Given the description of an element on the screen output the (x, y) to click on. 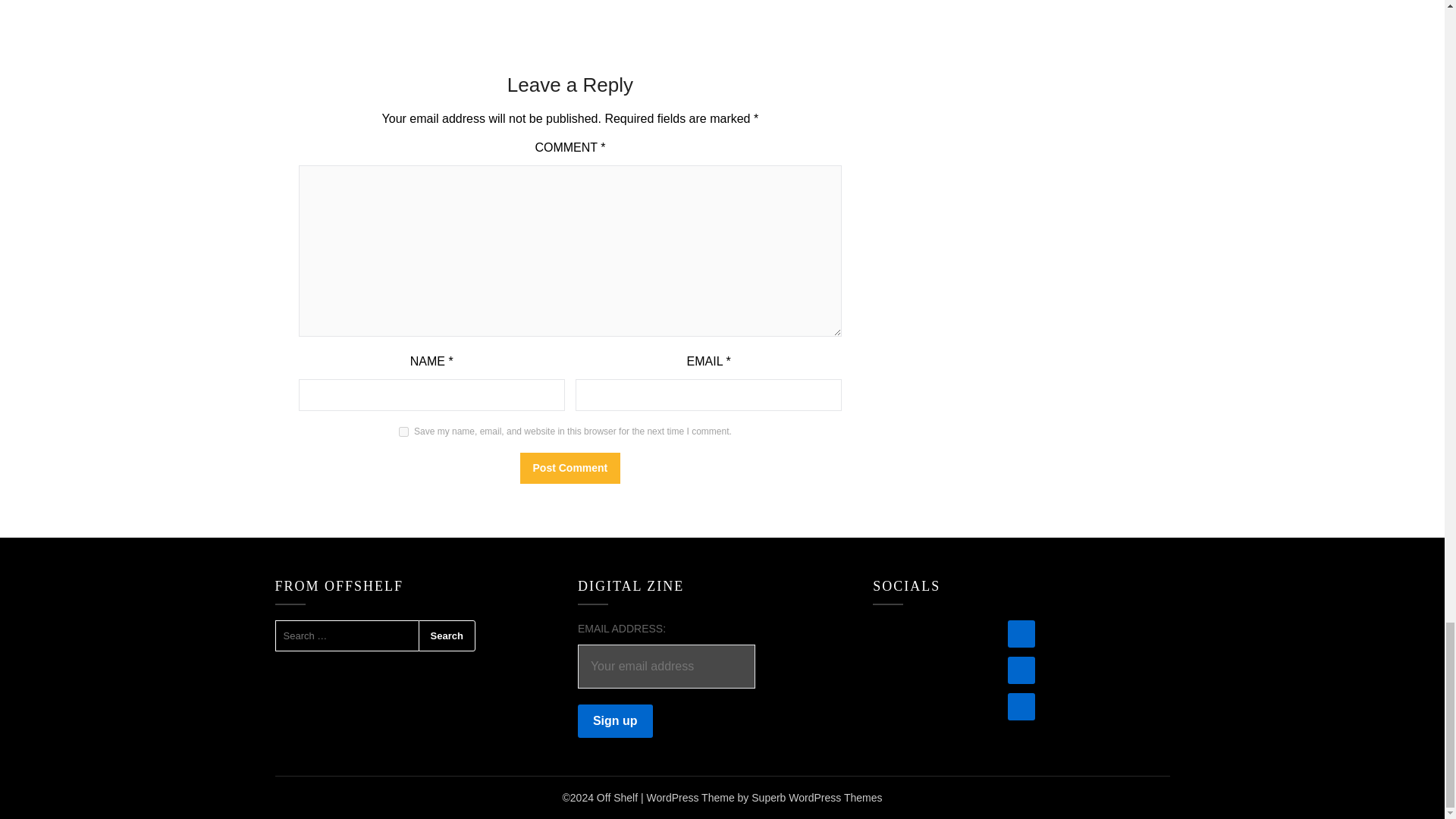
Sign up (615, 720)
Search (447, 635)
yes (403, 431)
Post Comment (570, 468)
Search (447, 635)
Post Comment (570, 468)
Search (447, 635)
Sign up (615, 720)
